Given the description of an element on the screen output the (x, y) to click on. 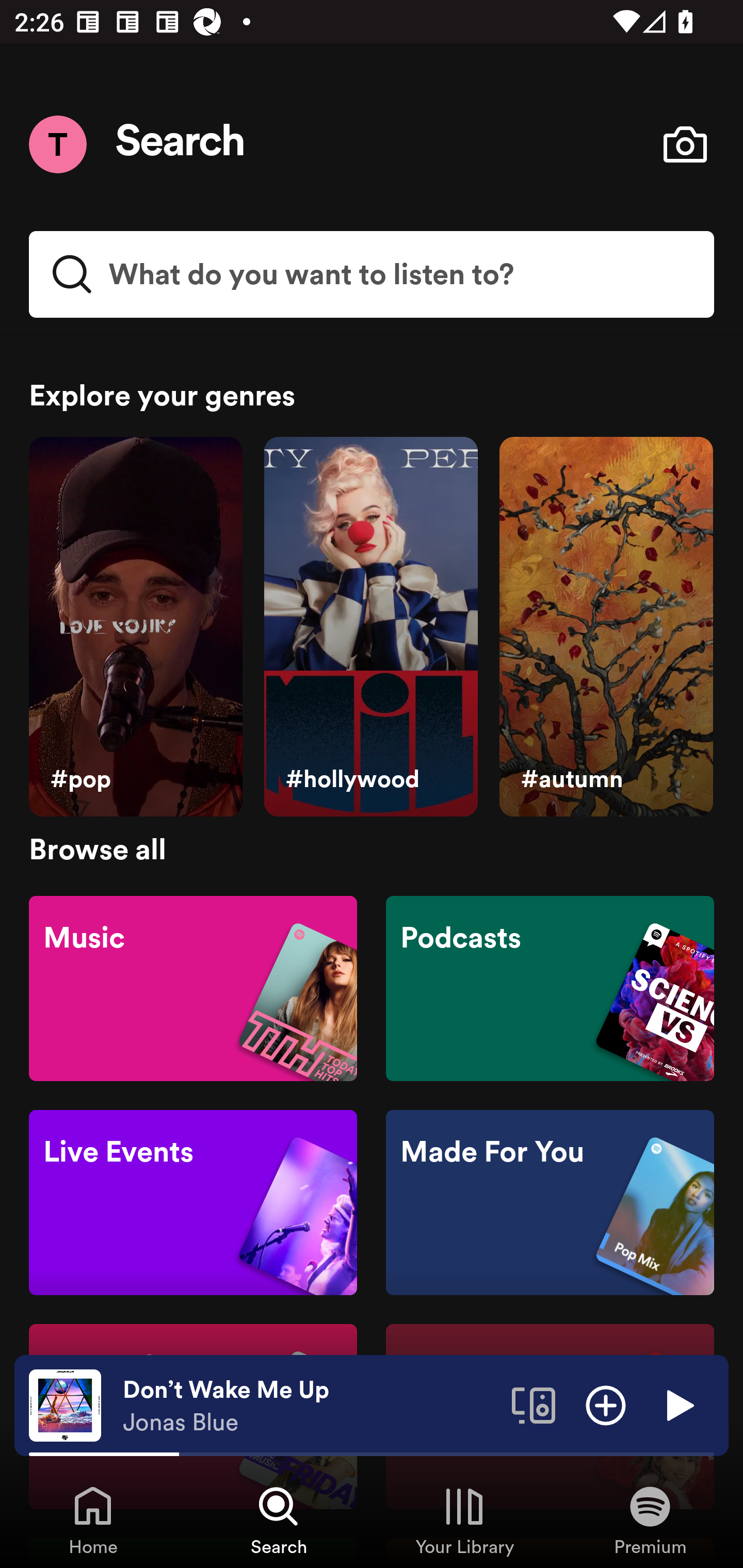
Menu (57, 144)
Open camera (685, 145)
Search (180, 144)
#pop (135, 626)
#hollywood (370, 626)
#autumn (606, 626)
Music (192, 987)
Podcasts (549, 987)
Live Events (192, 1202)
Made For You (549, 1202)
Don’t Wake Me Up Jonas Blue (309, 1405)
The cover art of the currently playing track (64, 1404)
Connect to a device. Opens the devices menu (533, 1404)
Add item (605, 1404)
Play (677, 1404)
Home, Tab 1 of 4 Home Home (92, 1519)
Search, Tab 2 of 4 Search Search (278, 1519)
Your Library, Tab 3 of 4 Your Library Your Library (464, 1519)
Premium, Tab 4 of 4 Premium Premium (650, 1519)
